Given the description of an element on the screen output the (x, y) to click on. 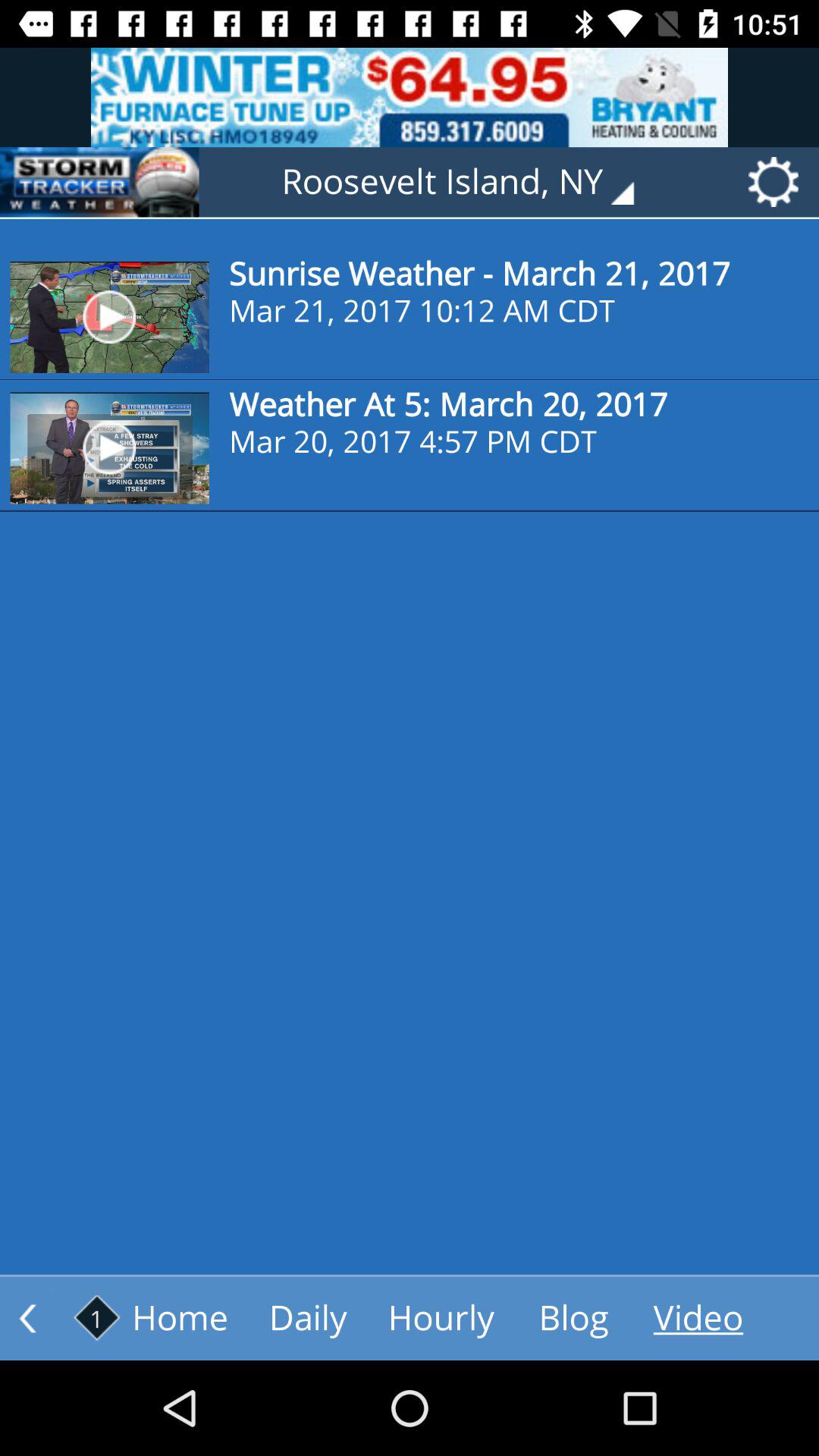
advertisement display (99, 182)
